Given the description of an element on the screen output the (x, y) to click on. 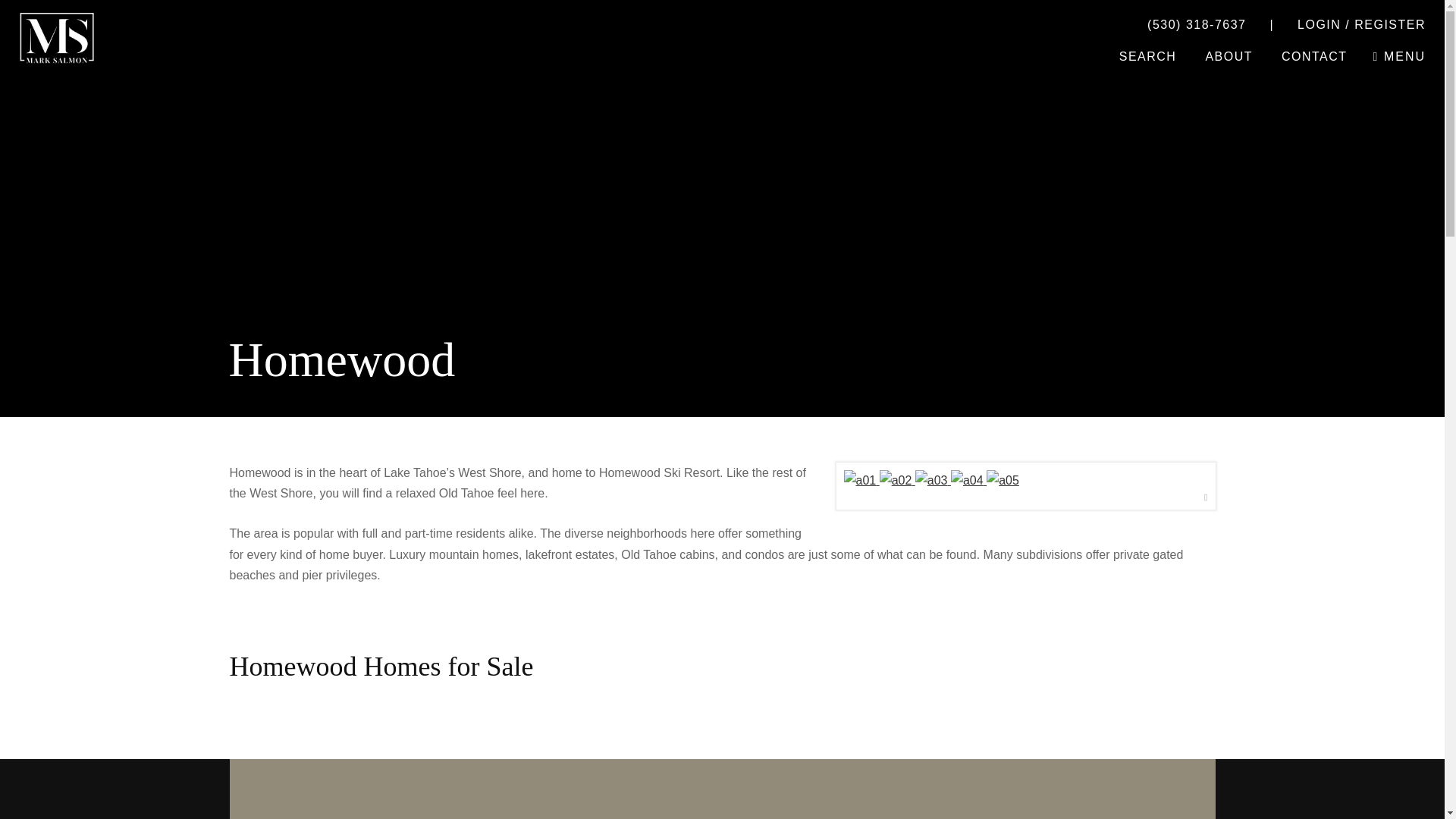
a05 (1003, 480)
a02 (895, 480)
MENU (1399, 56)
ABOUT (1228, 56)
Follow Us (310, 789)
CONTACT (1314, 56)
a04 (967, 480)
a01 (859, 480)
a03 (931, 480)
SEARCH (1147, 56)
